Given the description of an element on the screen output the (x, y) to click on. 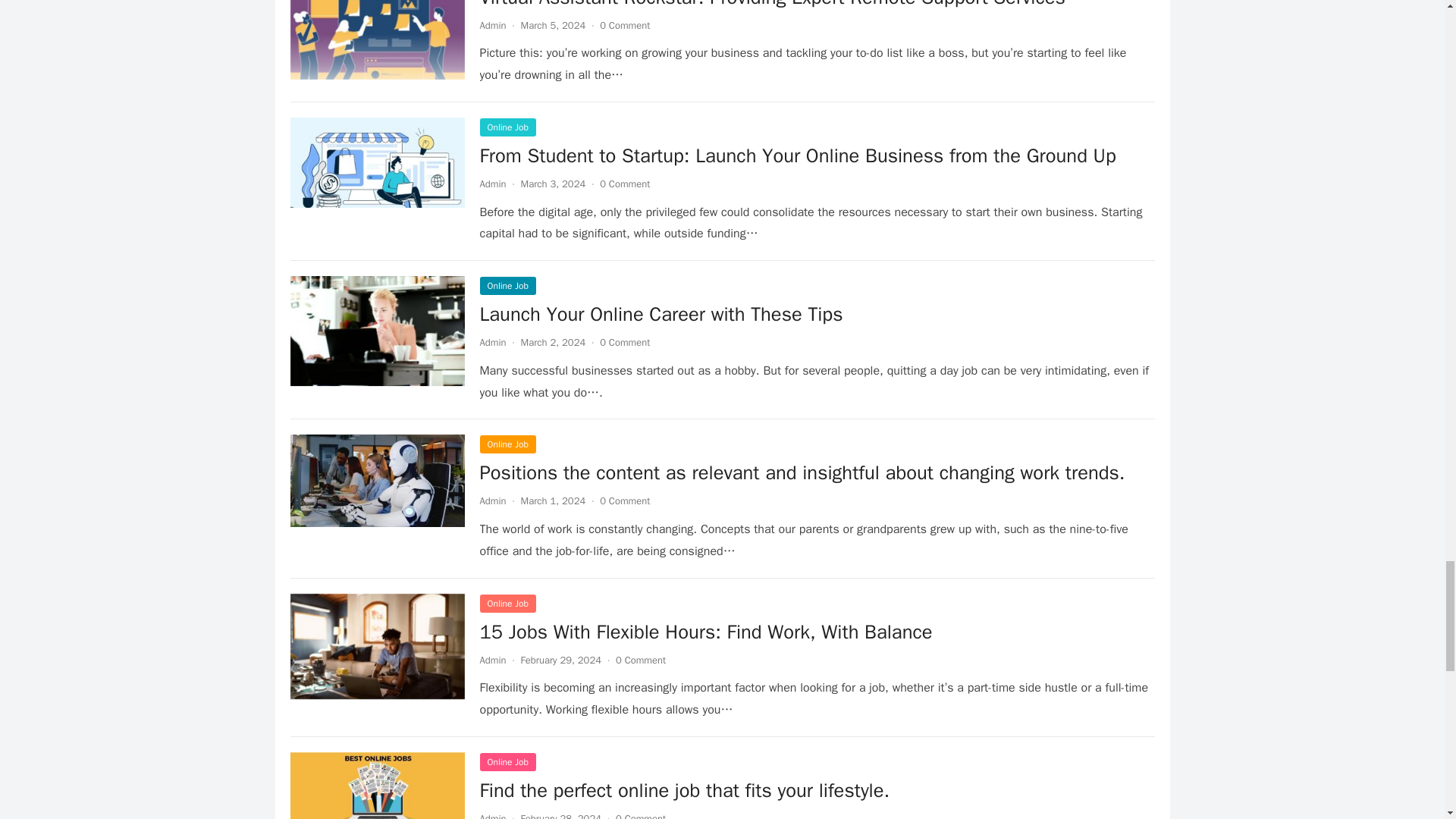
Posts by Admin (492, 659)
Posts by Admin (492, 183)
Posts by Admin (492, 815)
Posts by Admin (492, 341)
Posts by Admin (492, 24)
Posts by Admin (492, 500)
